Given the description of an element on the screen output the (x, y) to click on. 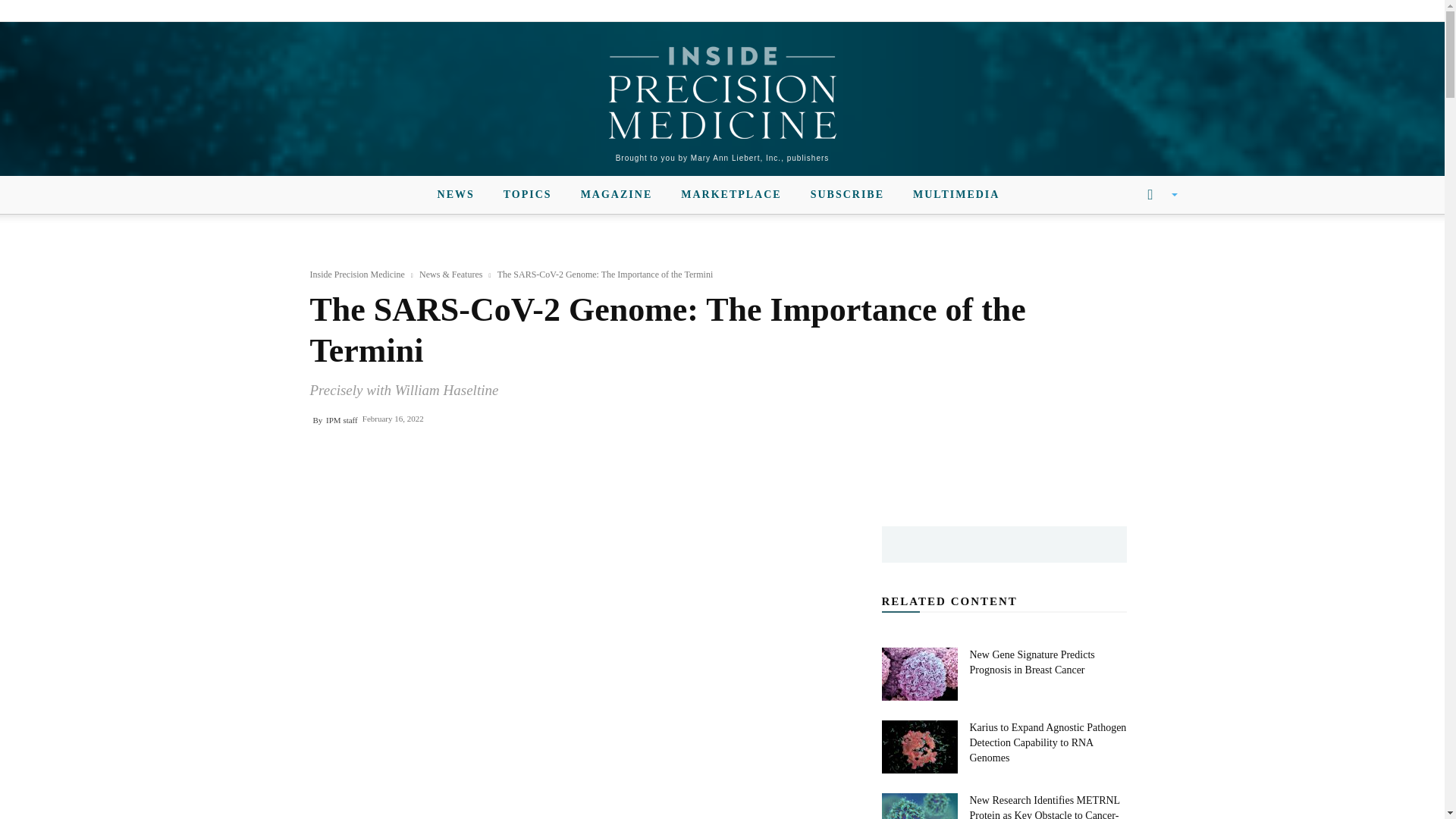
Linkedin (303, 10)
Facebook (277, 10)
Update Preferences (1142, 10)
Twitter (328, 10)
Inside Precision Medicine (721, 92)
